Given the description of an element on the screen output the (x, y) to click on. 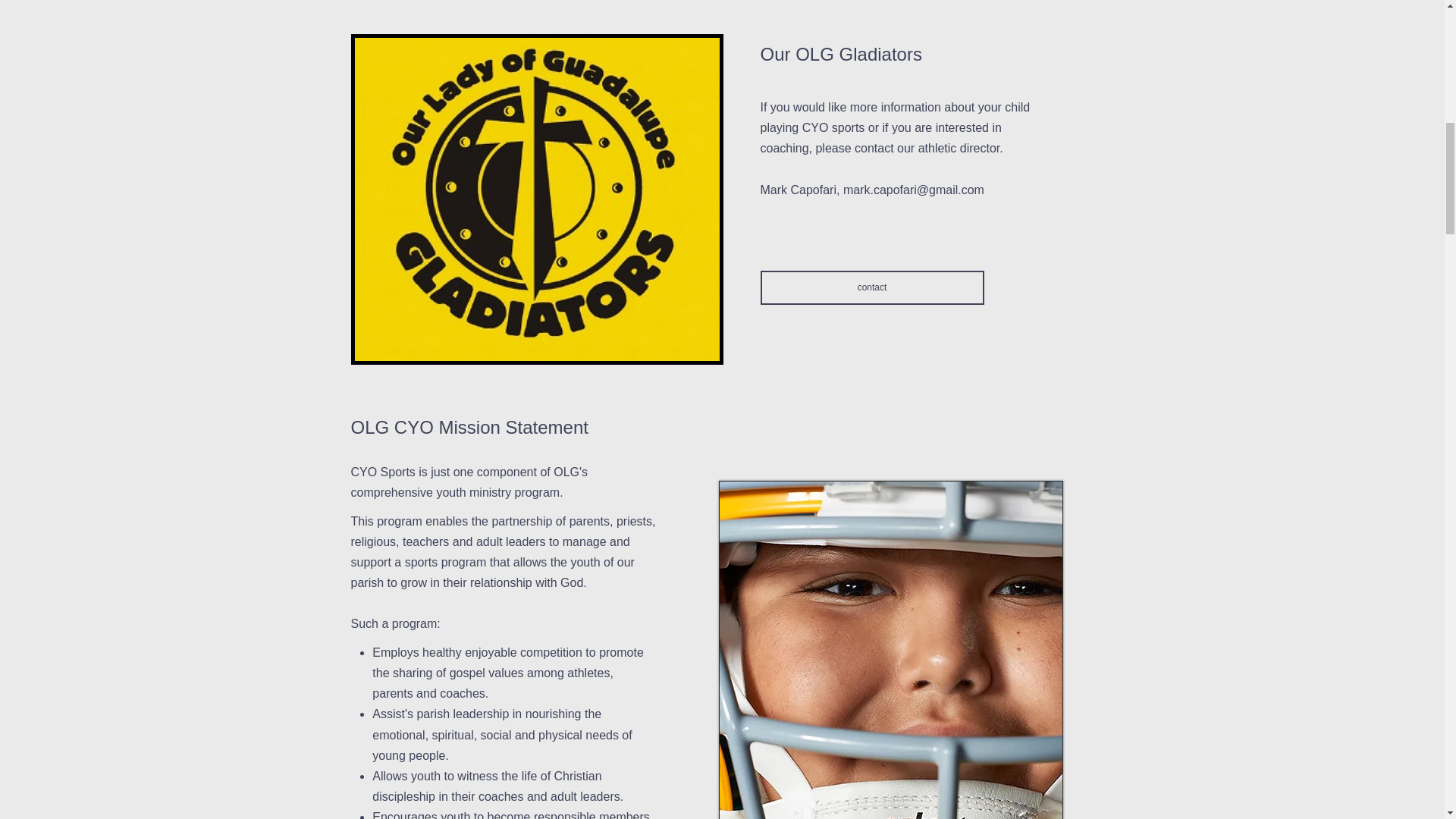
contact (872, 287)
